Given the description of an element on the screen output the (x, y) to click on. 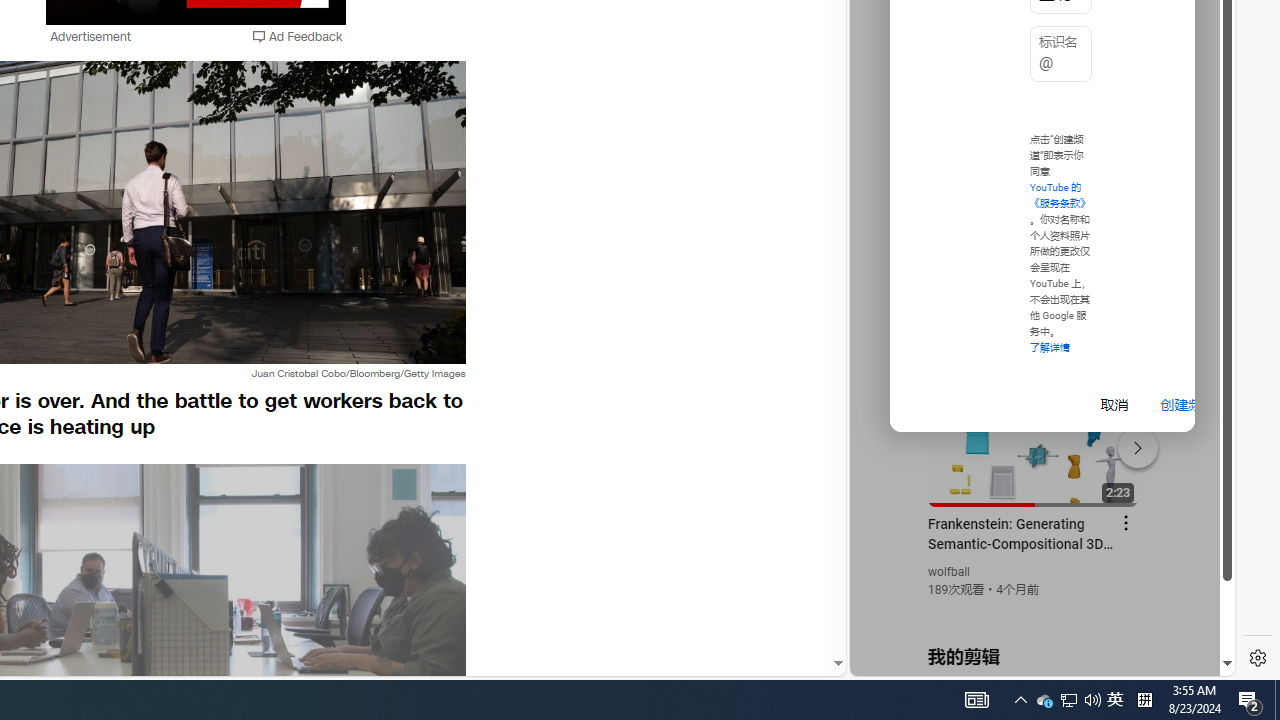
YouTube - YouTube (1034, 266)
